Given the description of an element on the screen output the (x, y) to click on. 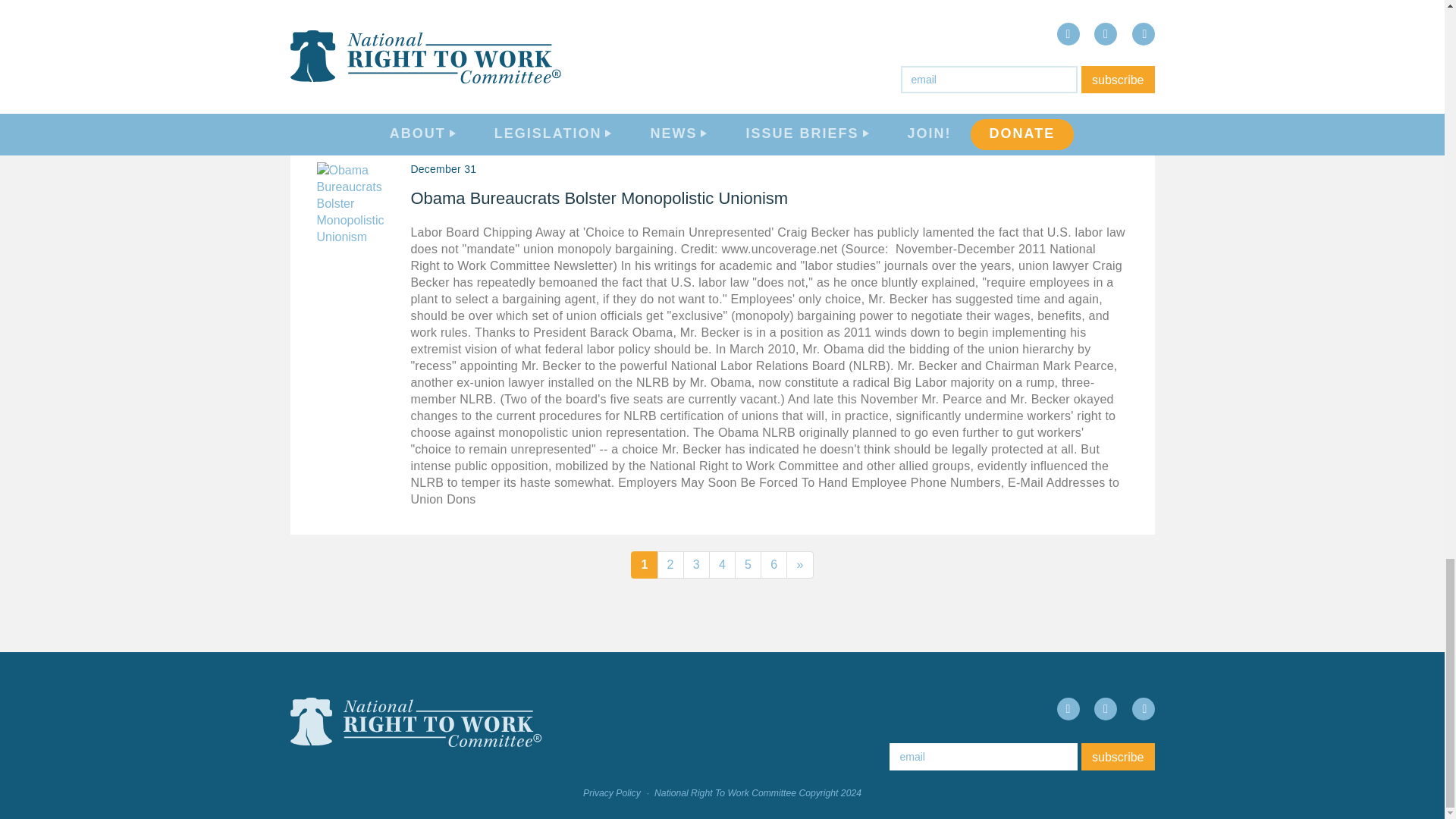
NRTWC on Twitter (1105, 708)
NRTWC on Facebook (1068, 708)
NRTWC on YouTube (1142, 708)
